Given the description of an element on the screen output the (x, y) to click on. 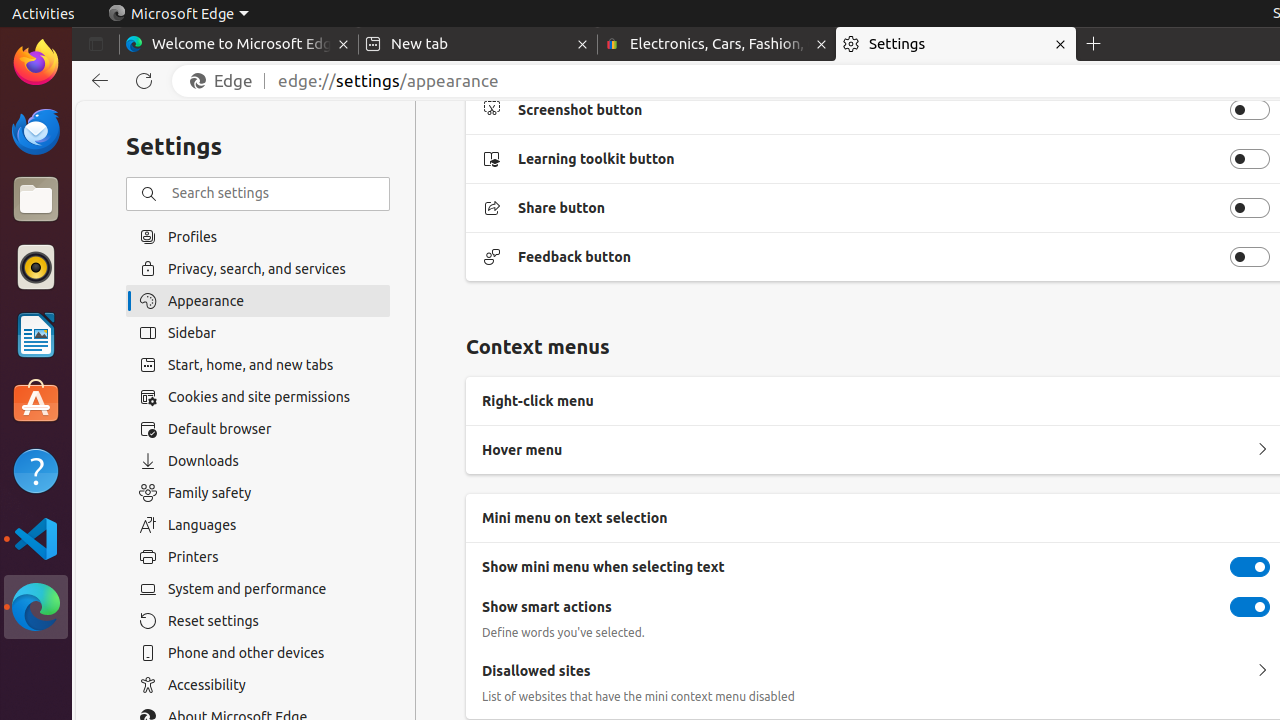
Share button Element type: check-box (1250, 207)
Edge Element type: push-button (226, 81)
